Given the description of an element on the screen output the (x, y) to click on. 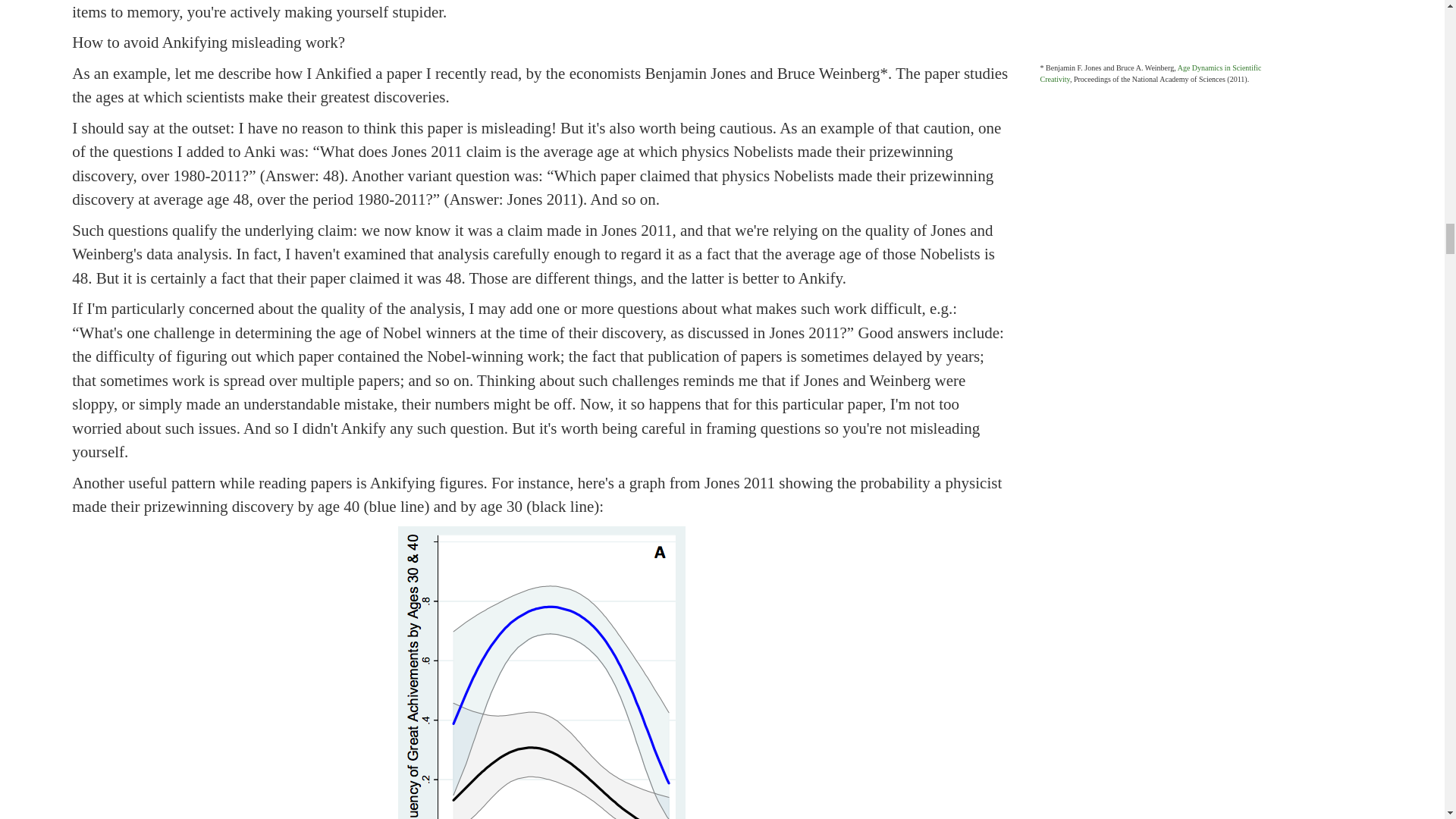
Age Dynamics in Scientific Creativity (1151, 73)
